Given the description of an element on the screen output the (x, y) to click on. 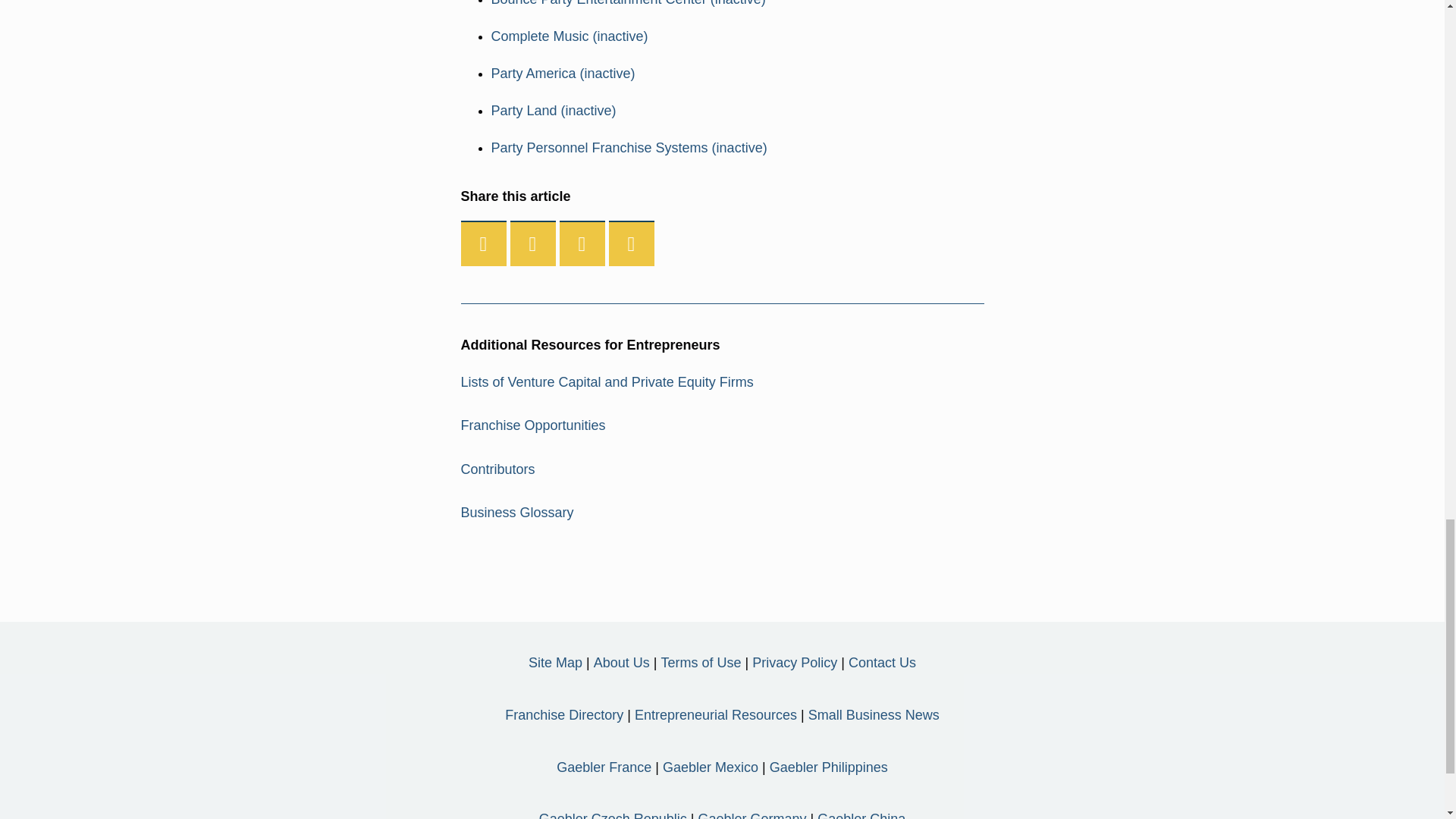
Twitter (533, 244)
Email (630, 244)
Linkedin (582, 244)
Facebook (483, 244)
